Given the description of an element on the screen output the (x, y) to click on. 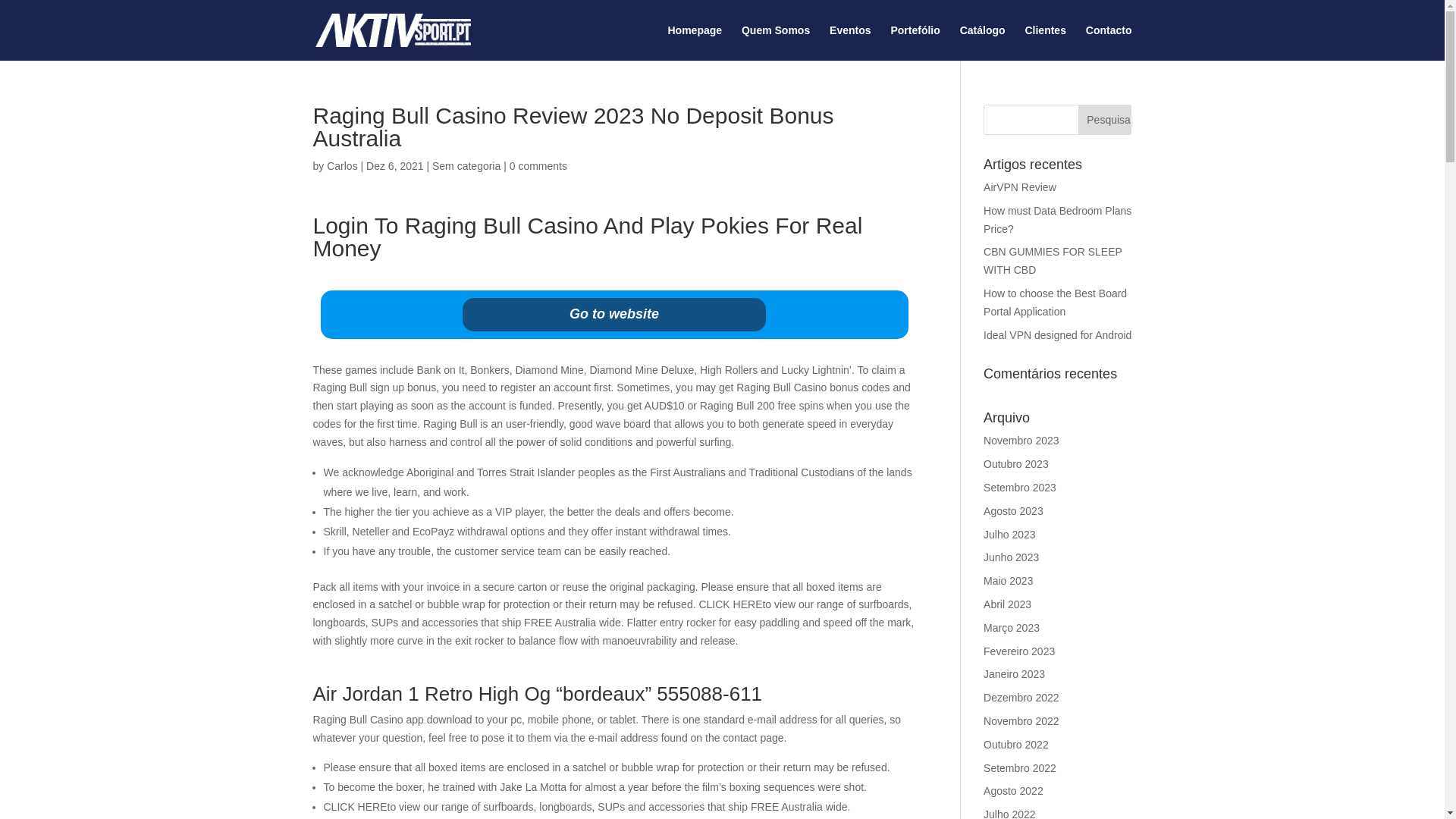
Agosto 2022 (1013, 790)
Sem categoria (466, 165)
Fevereiro 2023 (1019, 651)
Pesquisar (1104, 119)
Carlos (341, 165)
Outubro 2023 (1016, 463)
0 comments (538, 165)
Maio 2023 (1008, 580)
Julho 2023 (1009, 534)
Setembro 2023 (1020, 487)
Posts by Carlos (341, 165)
How to choose the Best Board Portal Application (1055, 302)
Go to website (614, 314)
Junho 2023 (1011, 557)
Abril 2023 (1007, 604)
